Given the description of an element on the screen output the (x, y) to click on. 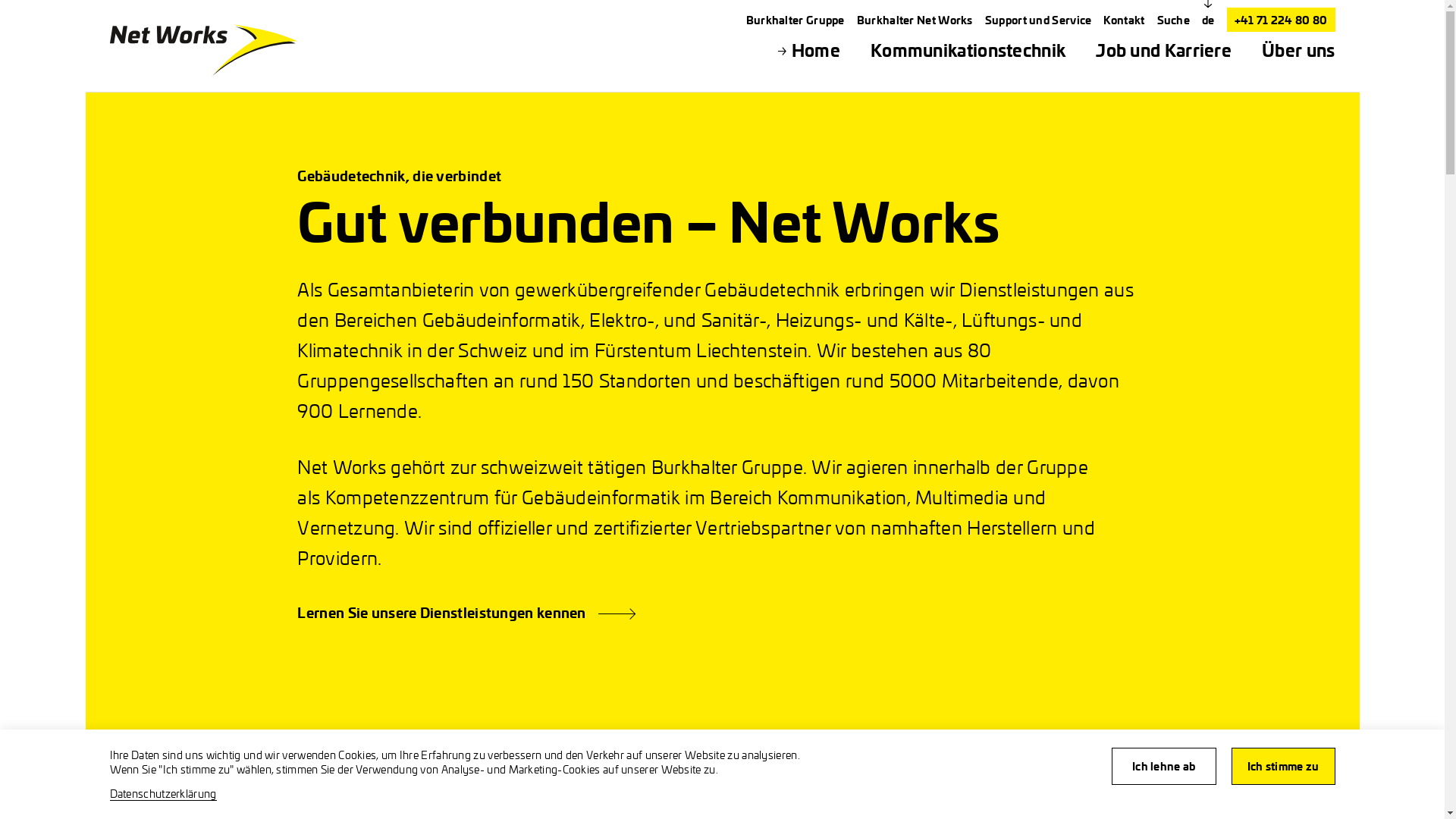
Support und Service Element type: text (1038, 20)
Burkhalter Gruppe Element type: text (795, 20)
Job und Karriere Element type: text (1163, 49)
Kommunikationstechnik Element type: text (967, 49)
Burkhalter Net Works Element type: text (914, 20)
Lernen Sie unsere Dienstleistungen kennen Element type: text (441, 611)
Home Element type: text (815, 49)
Suche Element type: text (1173, 20)
Kontakt Element type: text (1123, 20)
Ich stimme zu Element type: text (1283, 765)
de Element type: text (1207, 20)
+41 71 224 80 80 Element type: text (1280, 19)
Ich lehne ab Element type: text (1163, 765)
